Given the description of an element on the screen output the (x, y) to click on. 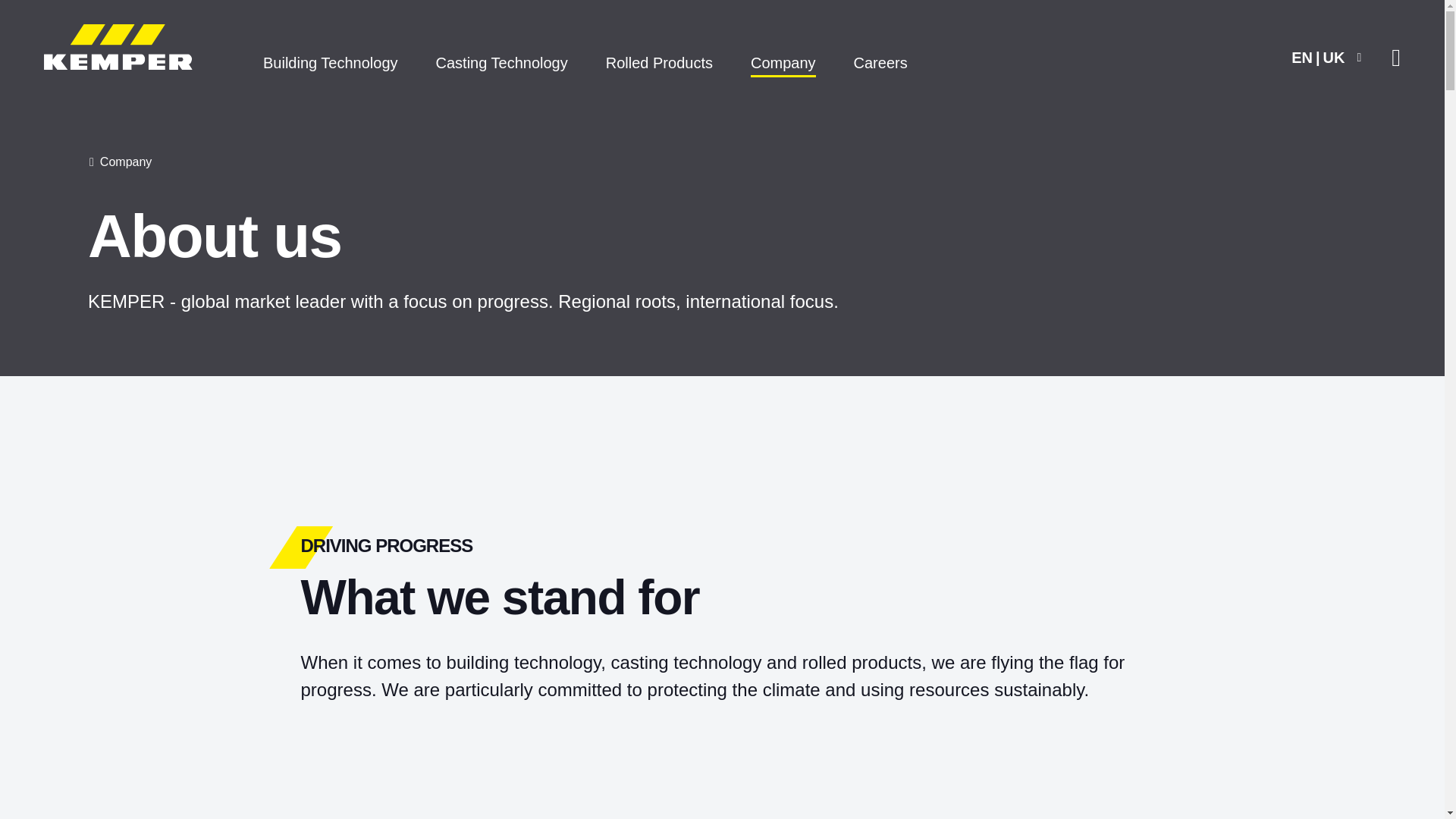
Building Technology (330, 63)
